Given the description of an element on the screen output the (x, y) to click on. 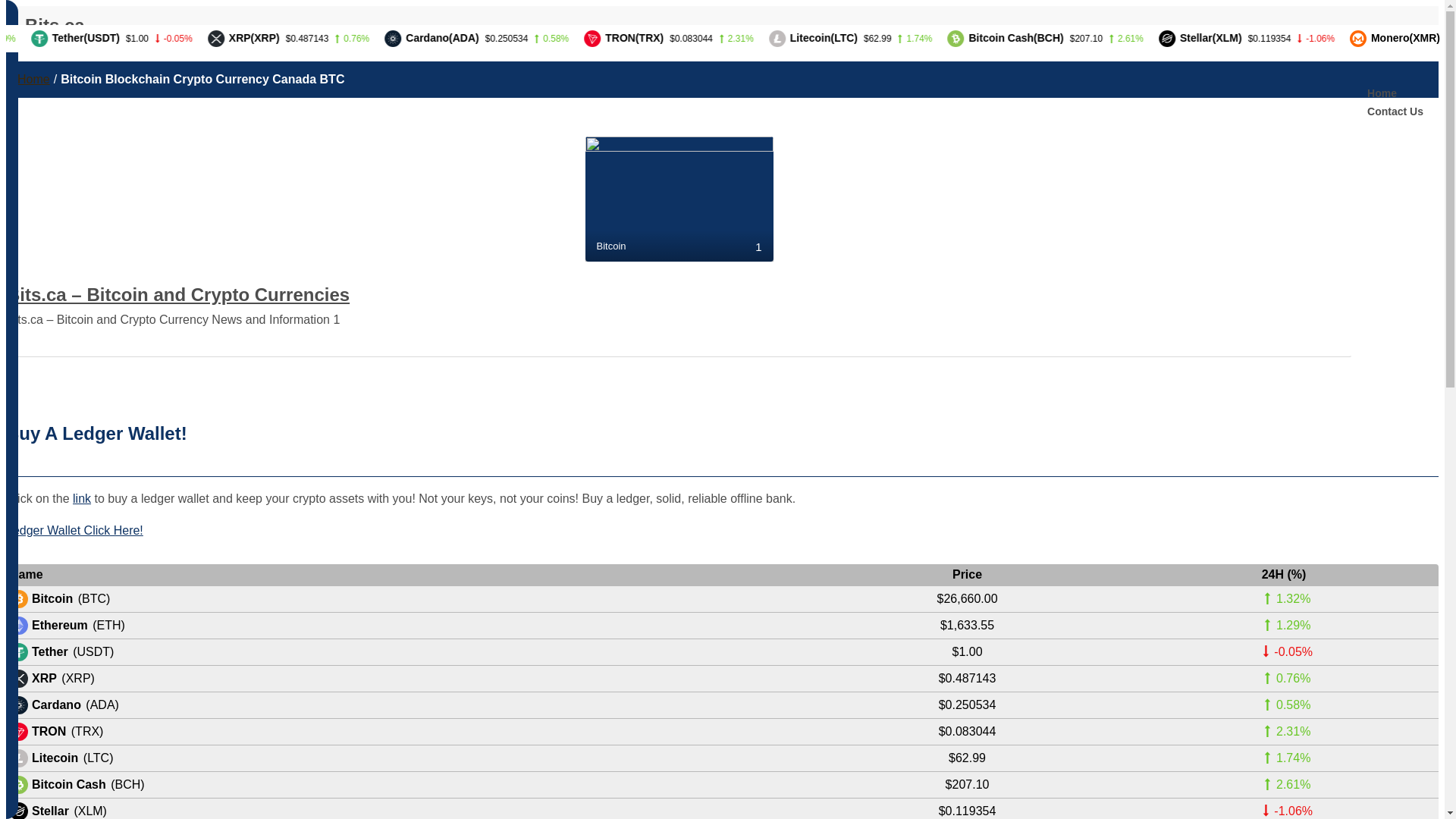
Home Element type: text (1394, 93)
Ledger Wallet Click Here! Element type: text (74, 530)
link Element type: text (81, 498)
Home Element type: text (33, 78)
Contact Us Element type: text (1394, 111)
Bits.ca Element type: text (54, 25)
